Given the description of an element on the screen output the (x, y) to click on. 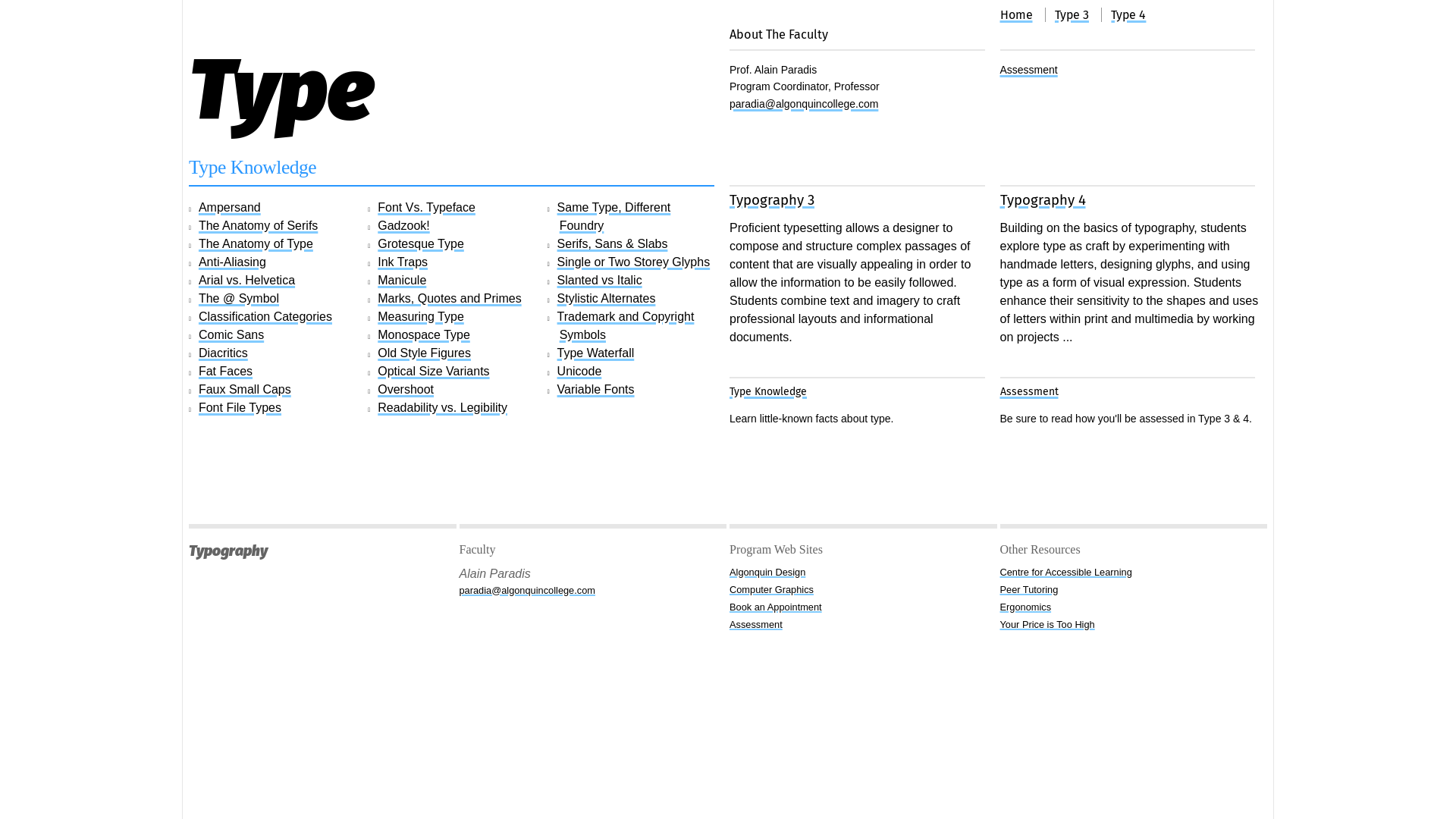
Stylistic Alternates Element type: text (606, 297)
Type Knowledge Element type: text (767, 391)
Serifs, Sans & Slabs Element type: text (612, 243)
Overshoot Element type: text (405, 388)
Monospace Type Element type: text (423, 334)
Classification Categories Element type: text (265, 316)
Anti-Aliasing Element type: text (232, 261)
Slanted vs Italic Element type: text (599, 279)
Ampersand Element type: text (229, 206)
Fat Faces Element type: text (225, 370)
Manicule Element type: text (401, 279)
Centre for Accessible Learning Element type: text (1133, 571)
Assessment Element type: text (863, 624)
Typography 3 Element type: text (771, 199)
Your Price is Too High Element type: text (1133, 624)
The Anatomy of Type Element type: text (255, 243)
Single or Two Storey Glyphs Element type: text (633, 261)
Type 4 Element type: text (1133, 14)
Typography Element type: text (322, 551)
paradia@algonquincollege.com Element type: text (803, 103)
Unicode Element type: text (579, 370)
The Anatomy of Serifs Element type: text (257, 225)
Readability vs. Legibility Element type: text (442, 407)
Ink Traps Element type: text (402, 261)
Measuring Type Element type: text (420, 316)
Trademark and Copyright Symbols Element type: text (625, 325)
Variable Fonts Element type: text (595, 388)
Ergonomics Element type: text (1133, 606)
Gadzook! Element type: text (403, 225)
Typography 4 Element type: text (1042, 199)
Same Type, Different Foundry Element type: text (614, 216)
Book an Appointment Element type: text (863, 606)
The @ Symbol Element type: text (238, 297)
Assessment Element type: text (1028, 391)
Font Vs. Typeface Element type: text (426, 206)
paradia@algonquincollege.com Element type: text (593, 590)
Algonquin Design Element type: text (863, 571)
Font File Types Element type: text (239, 407)
Grotesque Type Element type: text (420, 243)
Marks, Quotes and Primes Element type: text (448, 297)
Arial vs. Helvetica Element type: text (246, 279)
Peer Tutoring Element type: text (1133, 589)
Old Style Figures Element type: text (423, 352)
Type Element type: text (280, 90)
Computer Graphics Element type: text (863, 589)
Home Element type: text (1021, 14)
Type Waterfall Element type: text (595, 352)
Comic Sans Element type: text (230, 334)
Faux Small Caps Element type: text (244, 388)
Assessment Element type: text (1028, 69)
Diacritics Element type: text (222, 352)
Type 3 Element type: text (1077, 14)
Optical Size Variants Element type: text (433, 370)
